Given the description of an element on the screen output the (x, y) to click on. 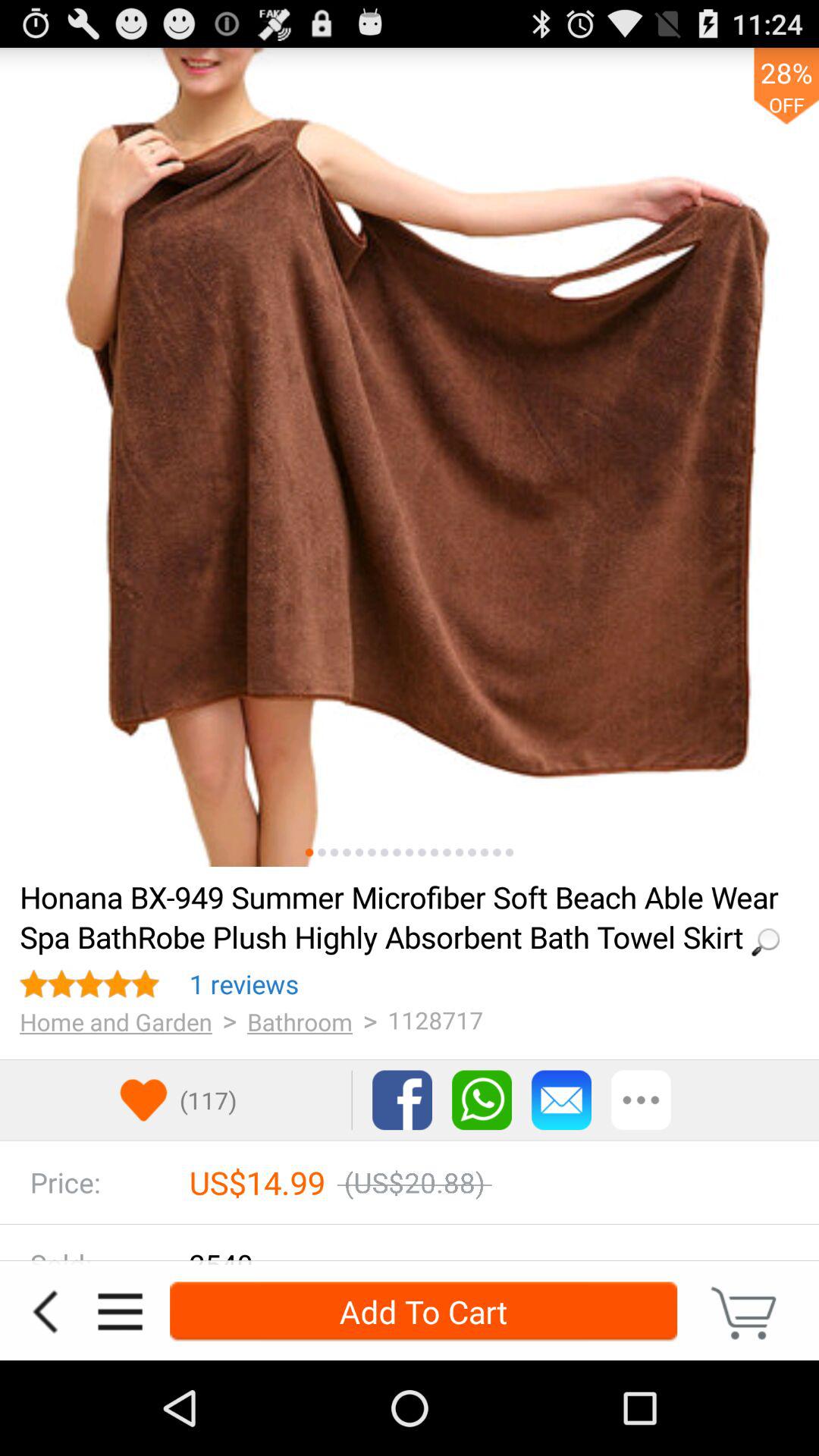
menu (120, 1311)
